Given the description of an element on the screen output the (x, y) to click on. 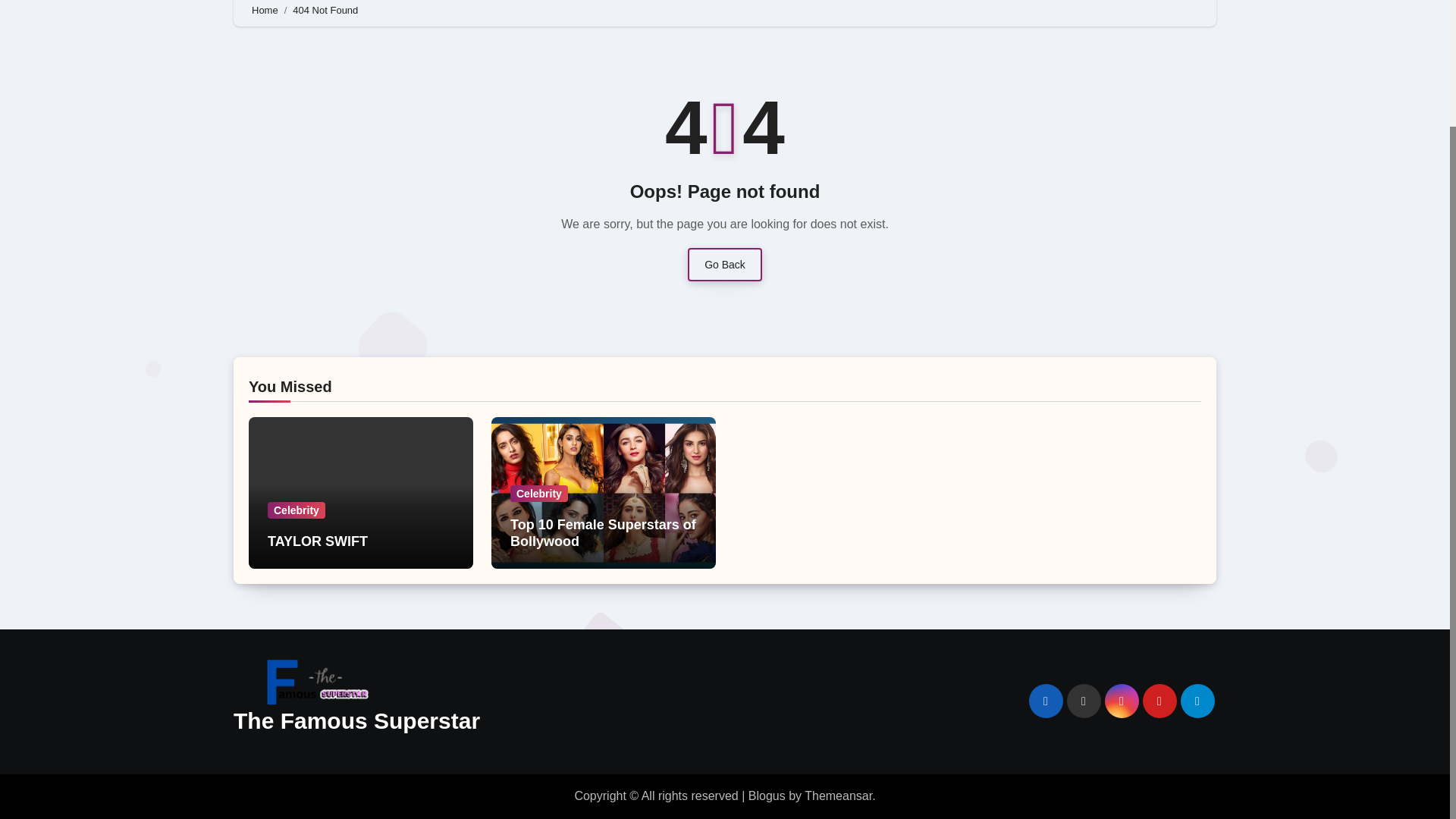
Top 10 Female Superstars of Bollywood (603, 532)
Permalink to: TAYLOR SWIFT (317, 540)
Blogus (767, 795)
Go Back (724, 264)
The Famous Superstar (356, 720)
Celebrity (539, 493)
Themeansar (838, 795)
TAYLOR SWIFT (317, 540)
Celebrity (295, 510)
Permalink to: Top 10 Female Superstars of Bollywood (603, 532)
